Given the description of an element on the screen output the (x, y) to click on. 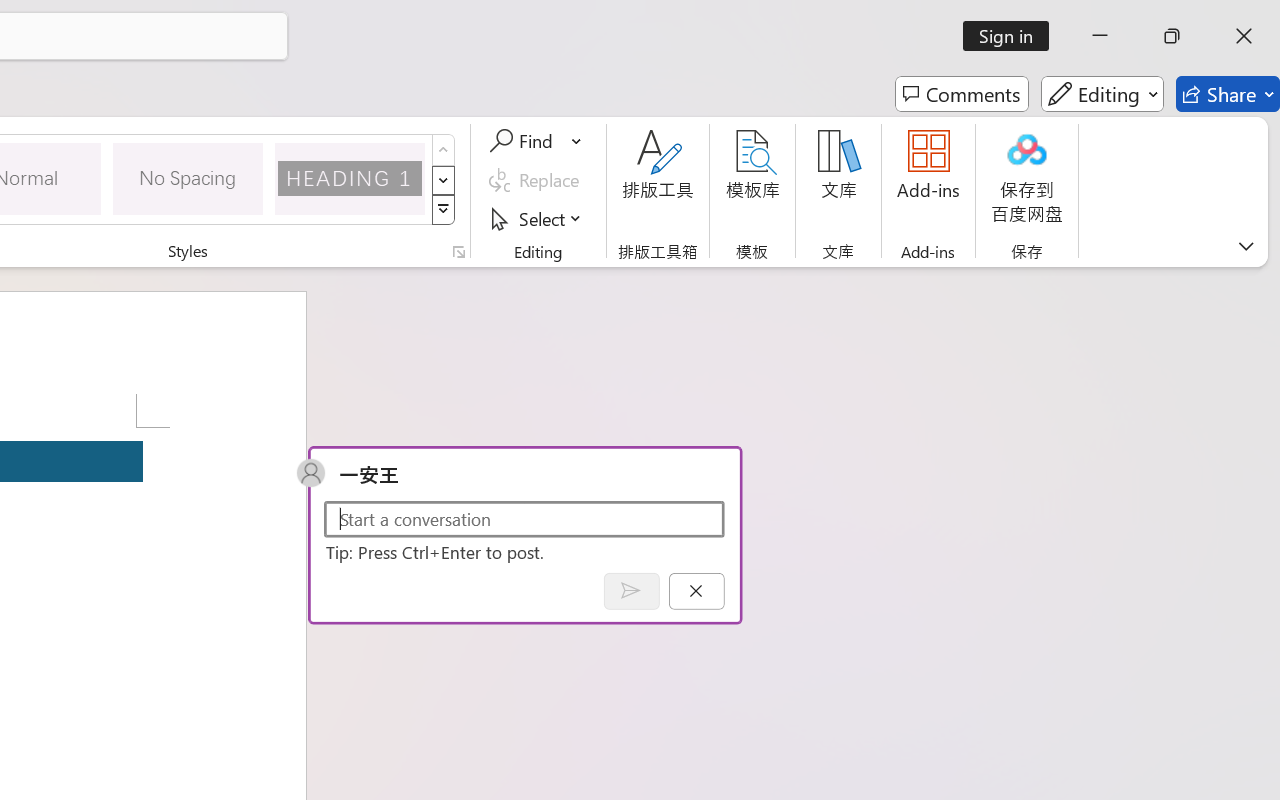
Editing (1101, 94)
Start a conversation (524, 518)
